Given the description of an element on the screen output the (x, y) to click on. 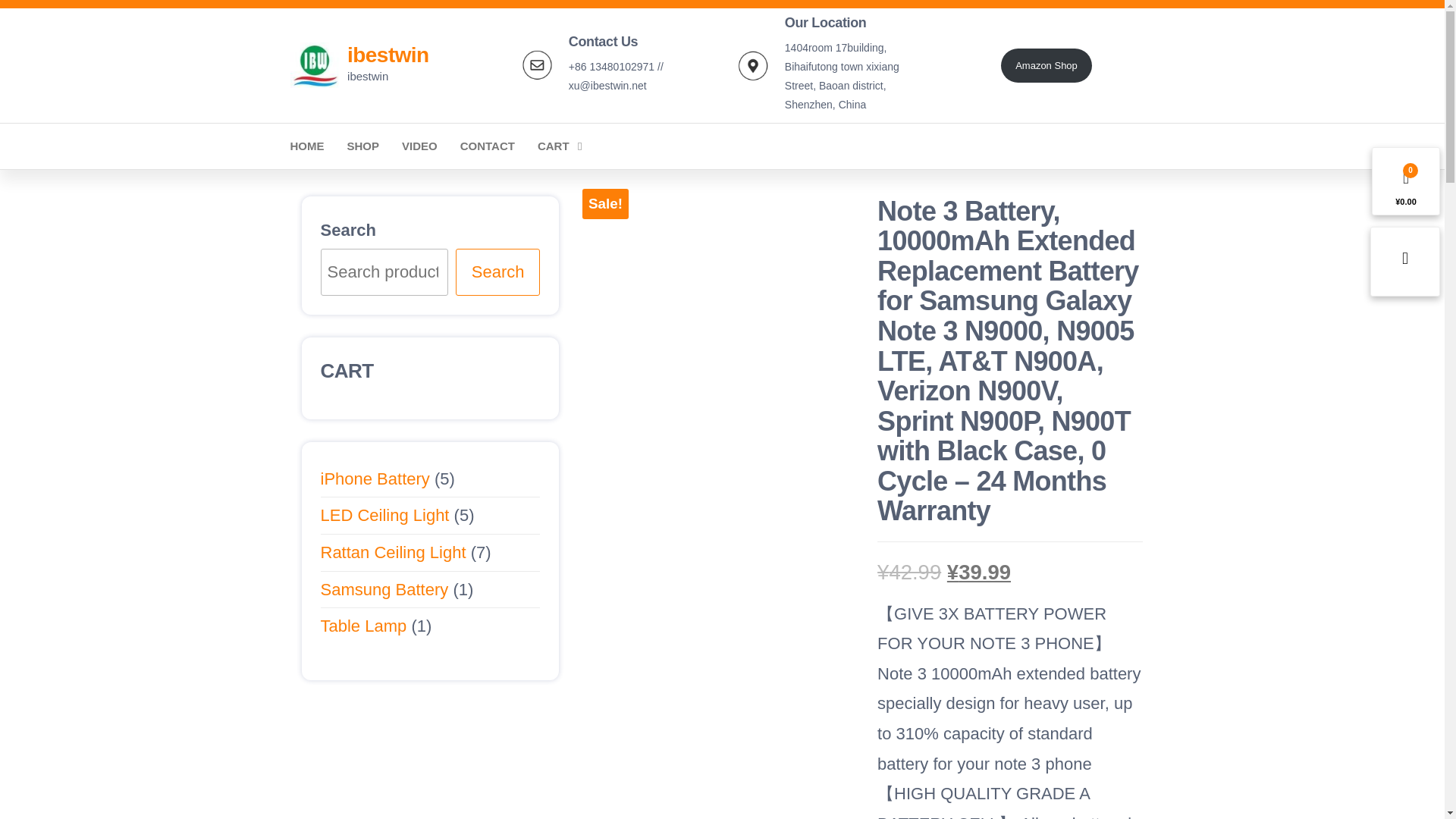
Cart (556, 145)
VIDEO (419, 145)
CONTACT (486, 145)
Samsung Battery (384, 588)
iPhone Battery (374, 478)
Home (307, 145)
Table Lamp (363, 625)
HOME (307, 145)
Amazon Shop (1046, 65)
Contact (486, 145)
